Given the description of an element on the screen output the (x, y) to click on. 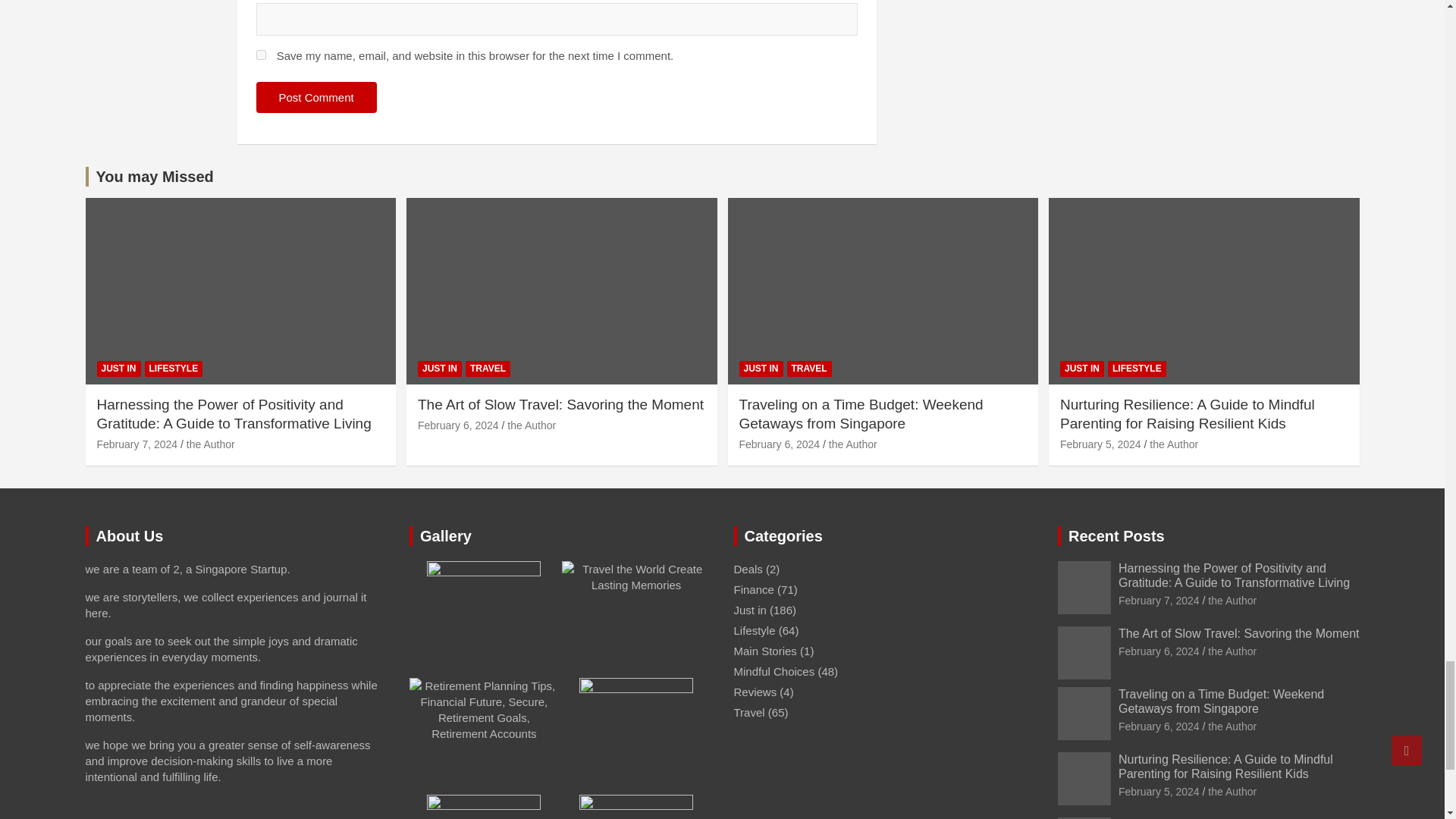
The Art of Slow Travel: Savoring the Moment (458, 425)
yes (261, 54)
Post Comment (316, 97)
Traveling on a Time Budget: Weekend Getaways from Singapore (778, 444)
The Art of Slow Travel: Savoring the Moment (1158, 651)
